Given the description of an element on the screen output the (x, y) to click on. 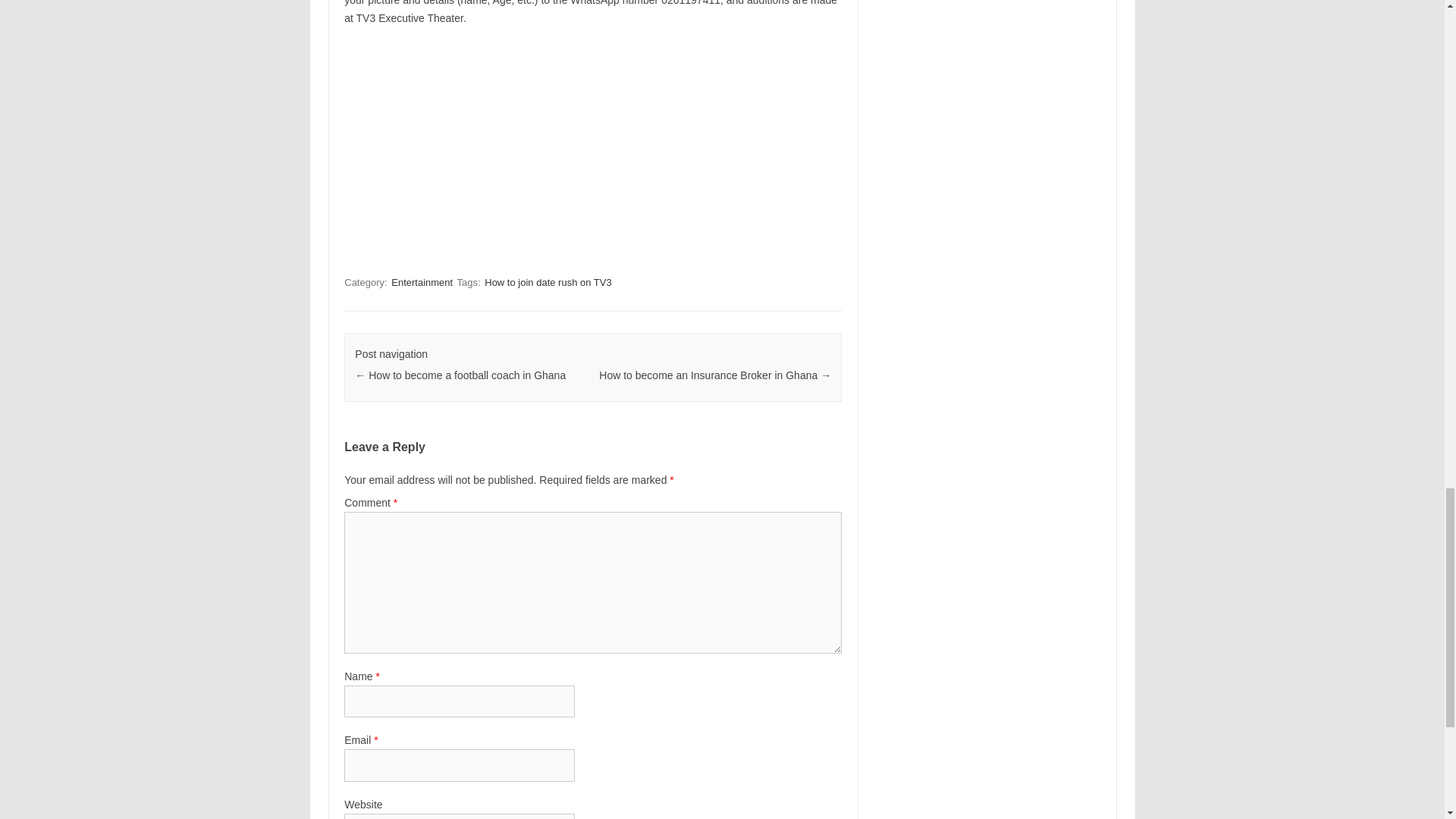
How to join date rush on TV3 (547, 282)
Entertainment (422, 282)
Advertisement (593, 149)
